Given the description of an element on the screen output the (x, y) to click on. 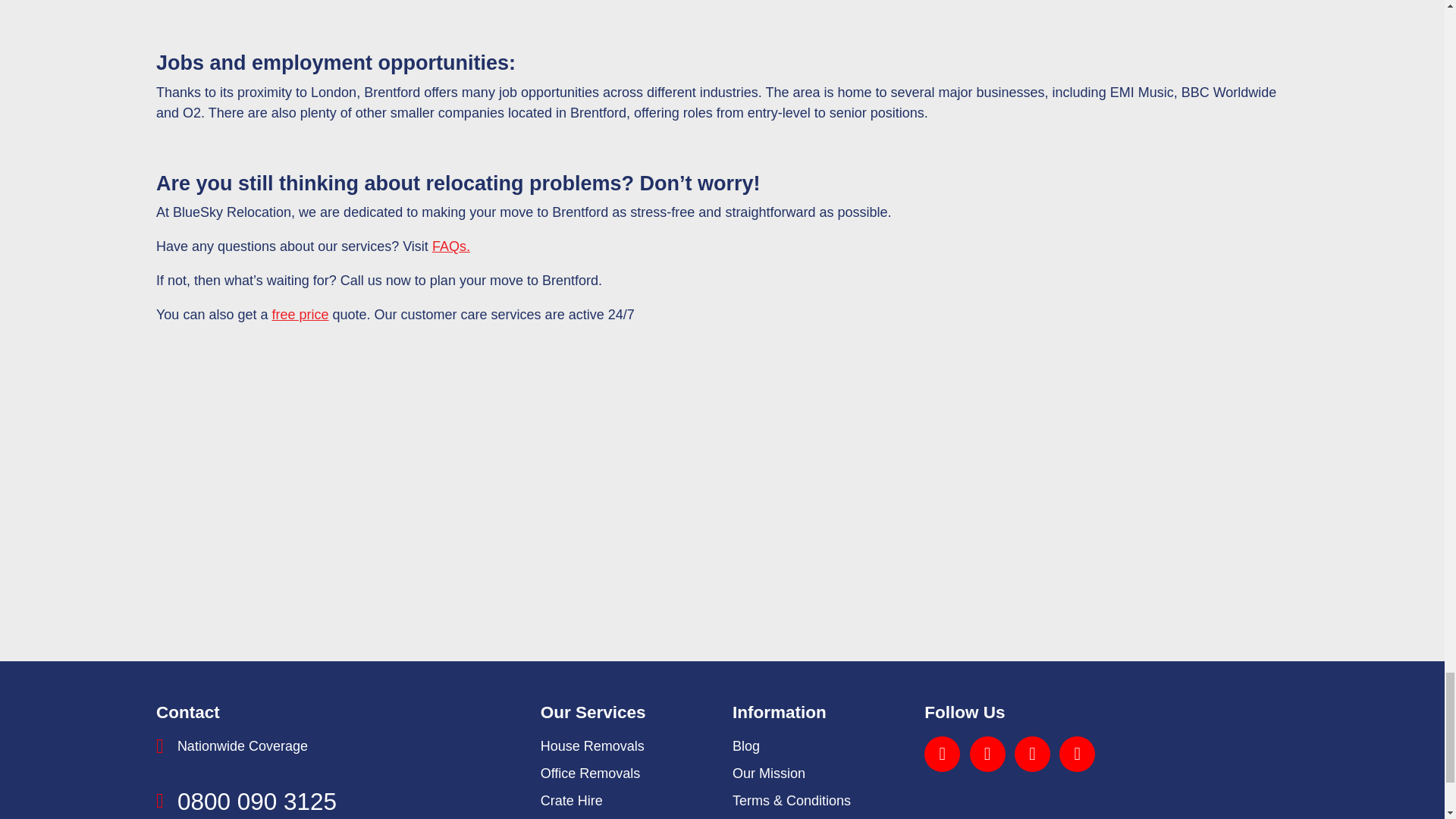
FAQs. (451, 246)
Blog (746, 745)
free price (299, 314)
Office Removals (590, 773)
0800 090 3125 (256, 800)
Our Mission (768, 773)
House Removals (592, 745)
Crate Hire (571, 800)
